Given the description of an element on the screen output the (x, y) to click on. 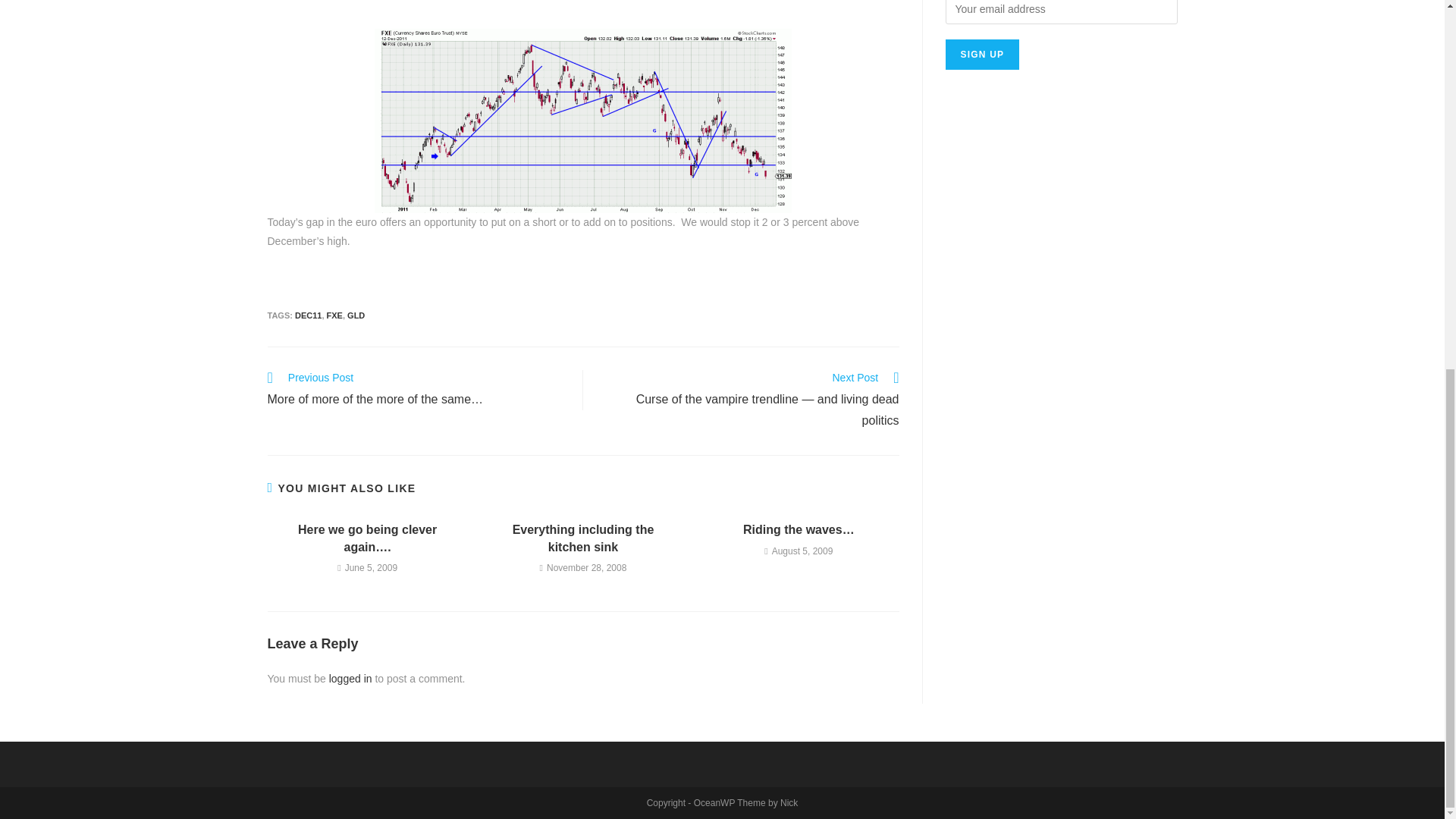
FXE (334, 315)
Sign up (981, 54)
logged in (350, 678)
1212fxe (583, 120)
Everything including the kitchen sink (583, 538)
DEC11 (308, 315)
Sign up (981, 54)
GLD (356, 315)
Everything including the kitchen sink (583, 538)
